Given the description of an element on the screen output the (x, y) to click on. 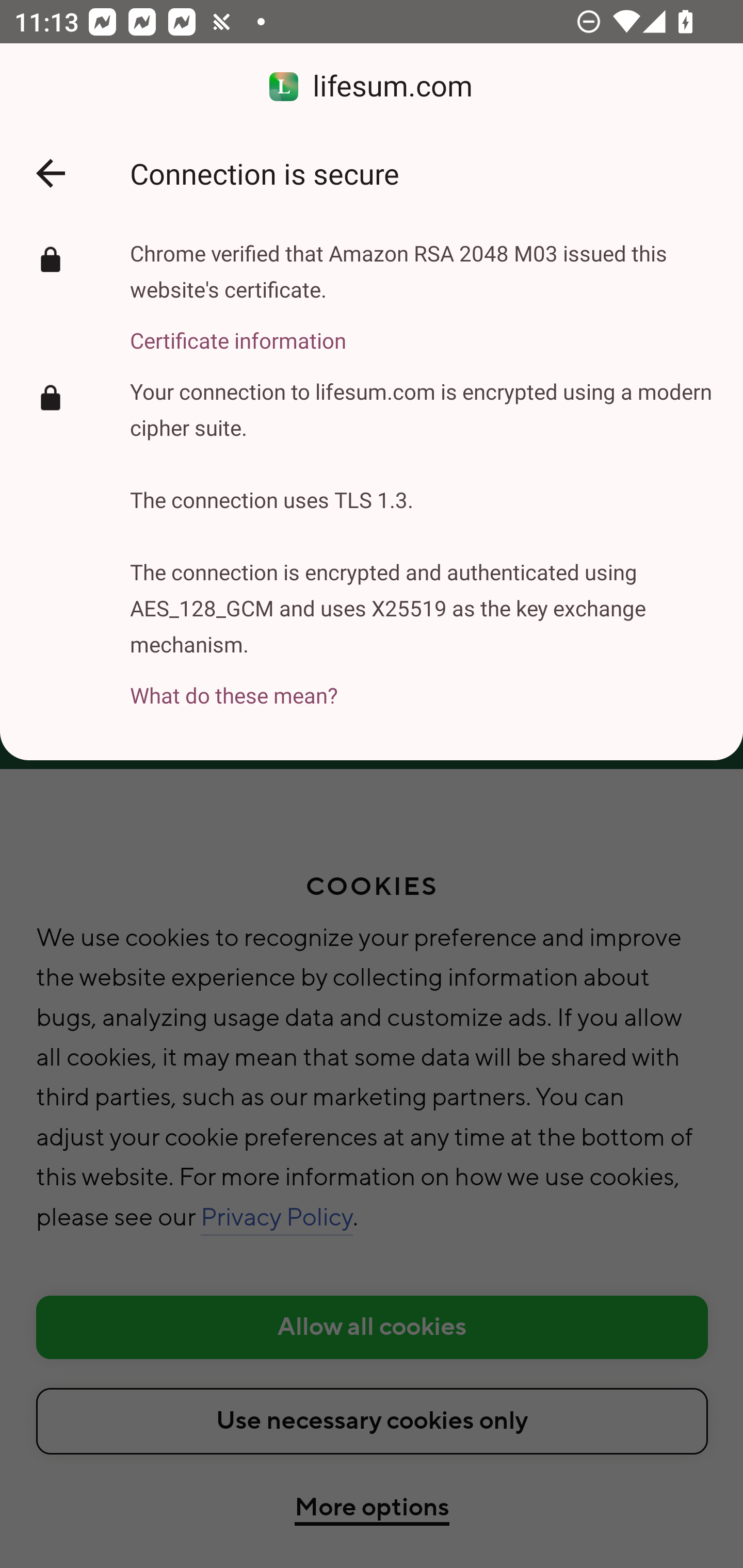
lifesum.com (371, 86)
Back (50, 173)
Certificate information (422, 329)
What do these mean? (422, 684)
